Given the description of an element on the screen output the (x, y) to click on. 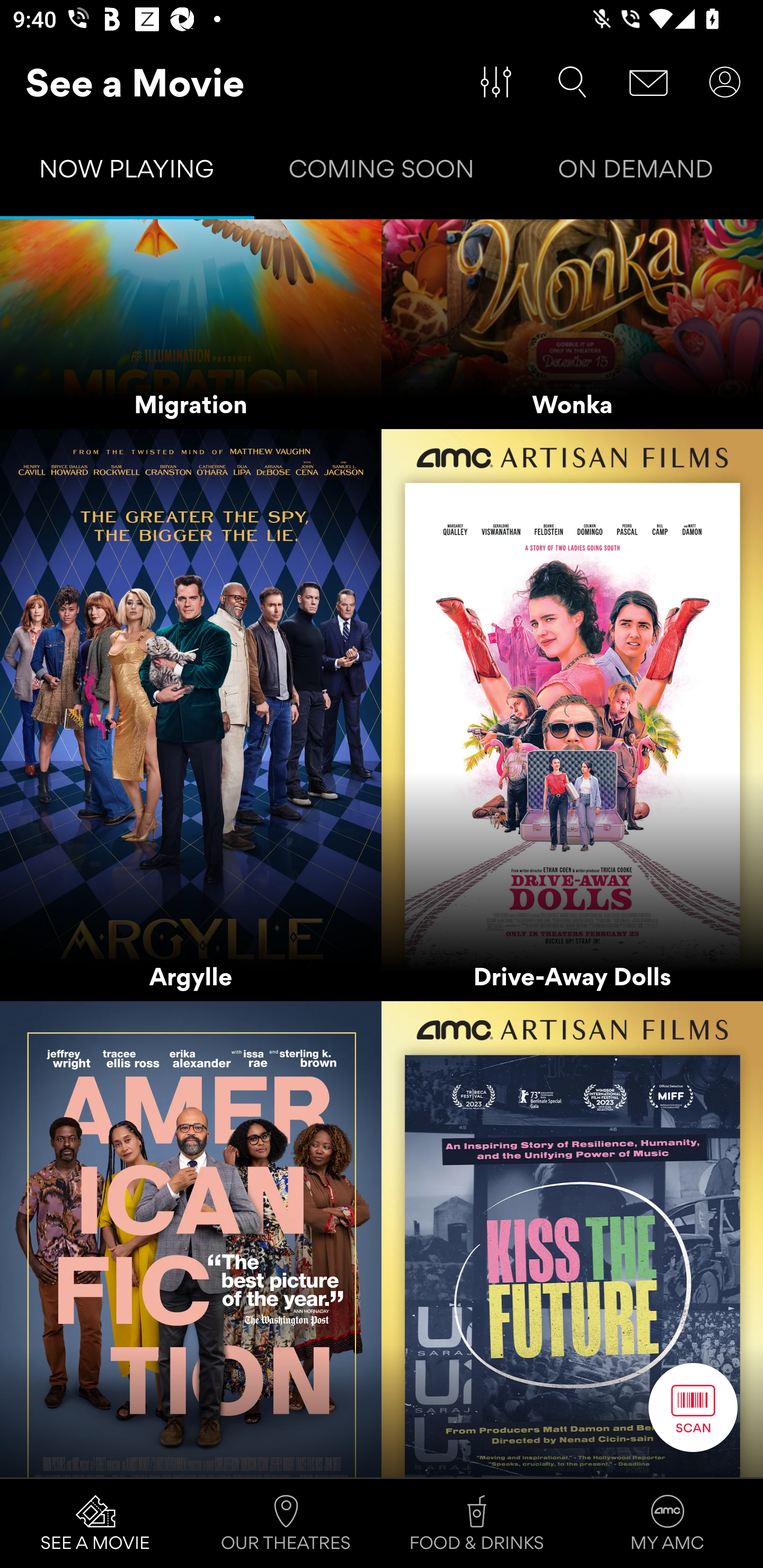
Filter Movies (495, 82)
Search (572, 82)
Message Center (648, 82)
User Account (724, 82)
NOW PLAYING
Tab 1 of 3 (127, 173)
COMING SOON
Tab 2 of 3 (381, 173)
ON DEMAND
Tab 3 of 3 (635, 173)
Migration (190, 324)
Wonka (572, 324)
Argylle (190, 715)
Drive-Away Dolls (572, 715)
American Fiction (190, 1239)
Kiss the Future (572, 1239)
Scan Button (692, 1406)
SEE A MOVIE
Tab 1 of 4 (95, 1523)
OUR THEATRES
Tab 2 of 4 (285, 1523)
FOOD & DRINKS
Tab 3 of 4 (476, 1523)
MY AMC
Tab 4 of 4 (667, 1523)
